Given the description of an element on the screen output the (x, y) to click on. 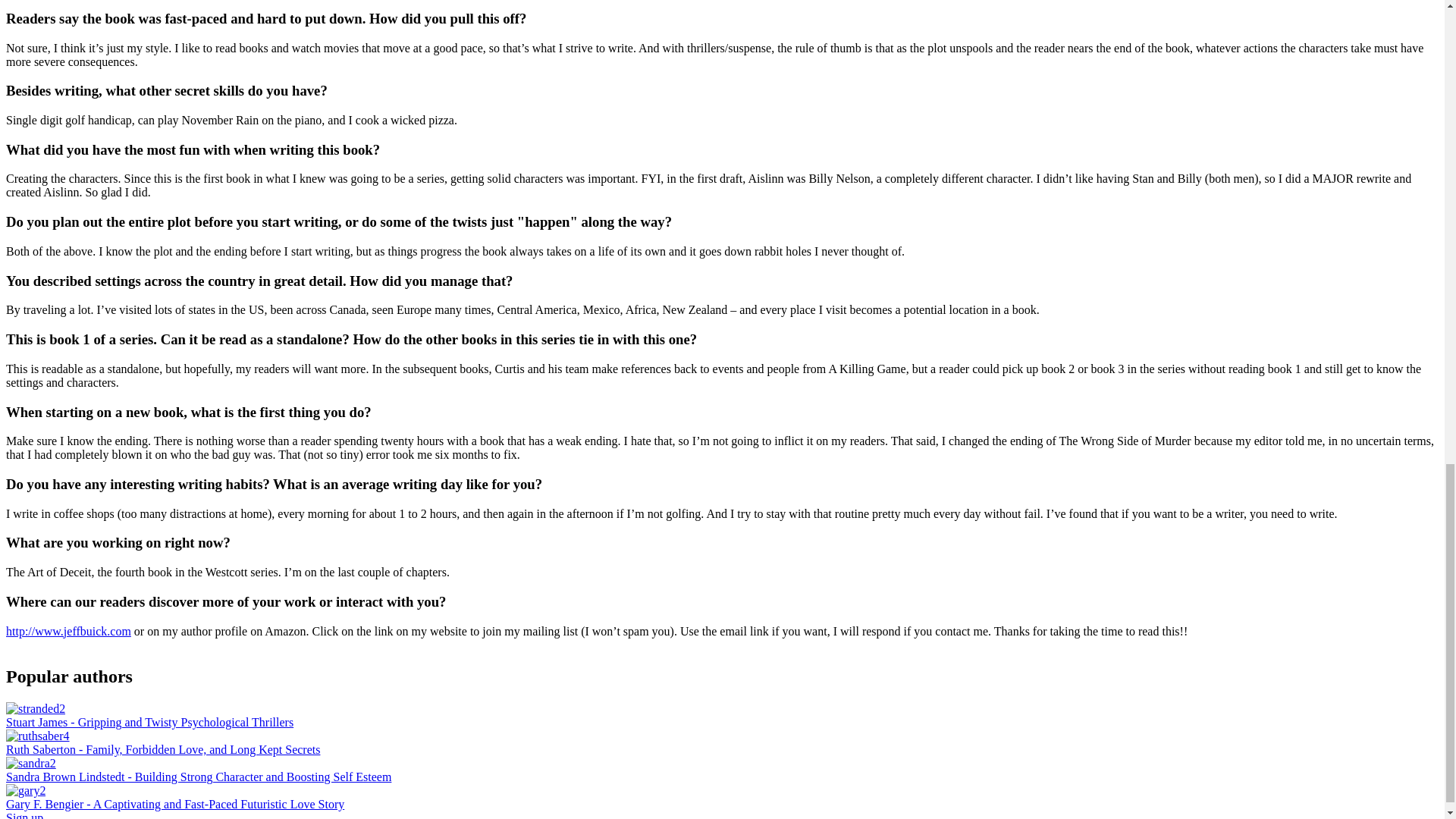
Stuart James - Gripping and Twisty Psychological Thrillers (149, 721)
